Given the description of an element on the screen output the (x, y) to click on. 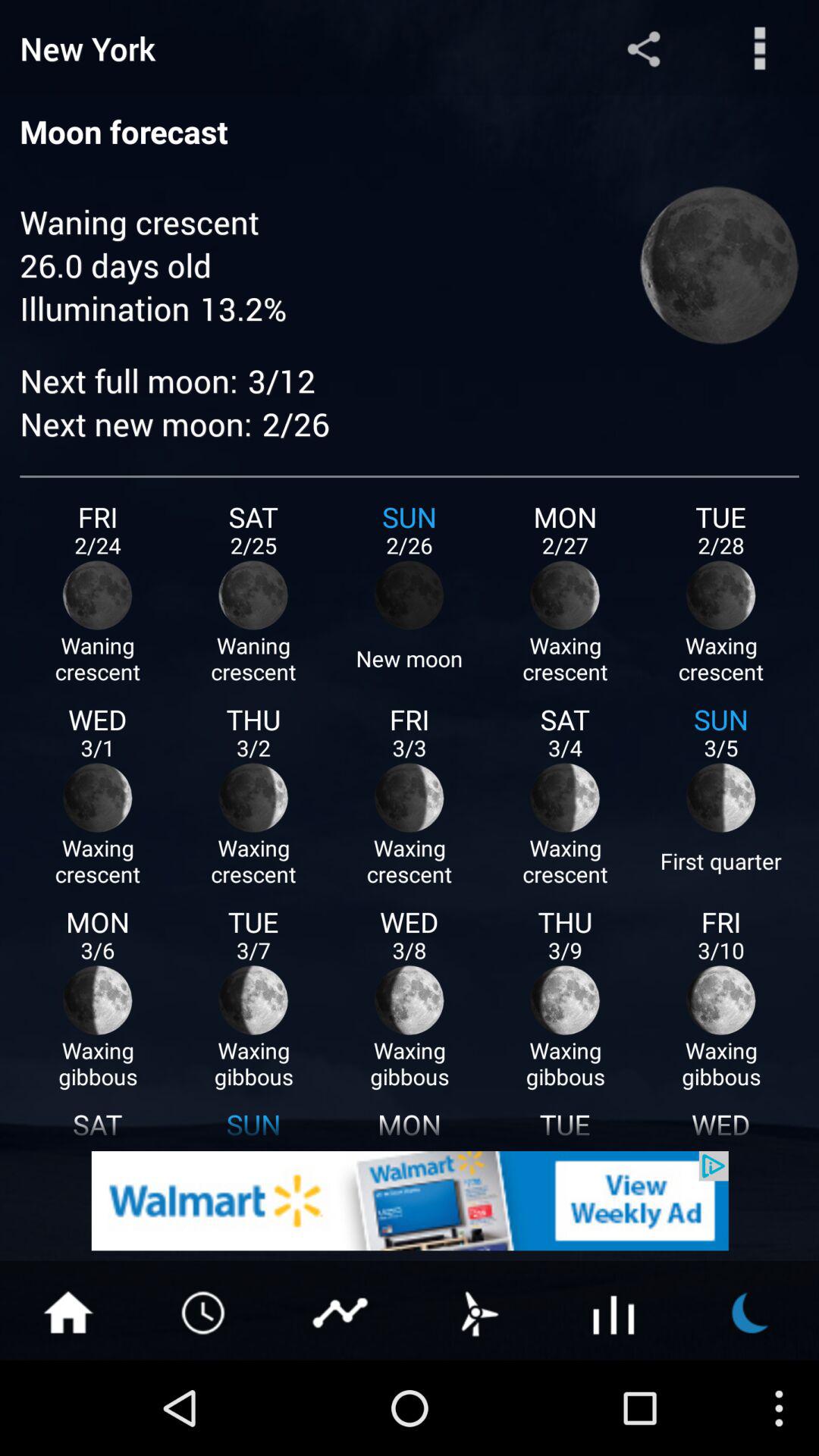
set update interval times (204, 1311)
